Given the description of an element on the screen output the (x, y) to click on. 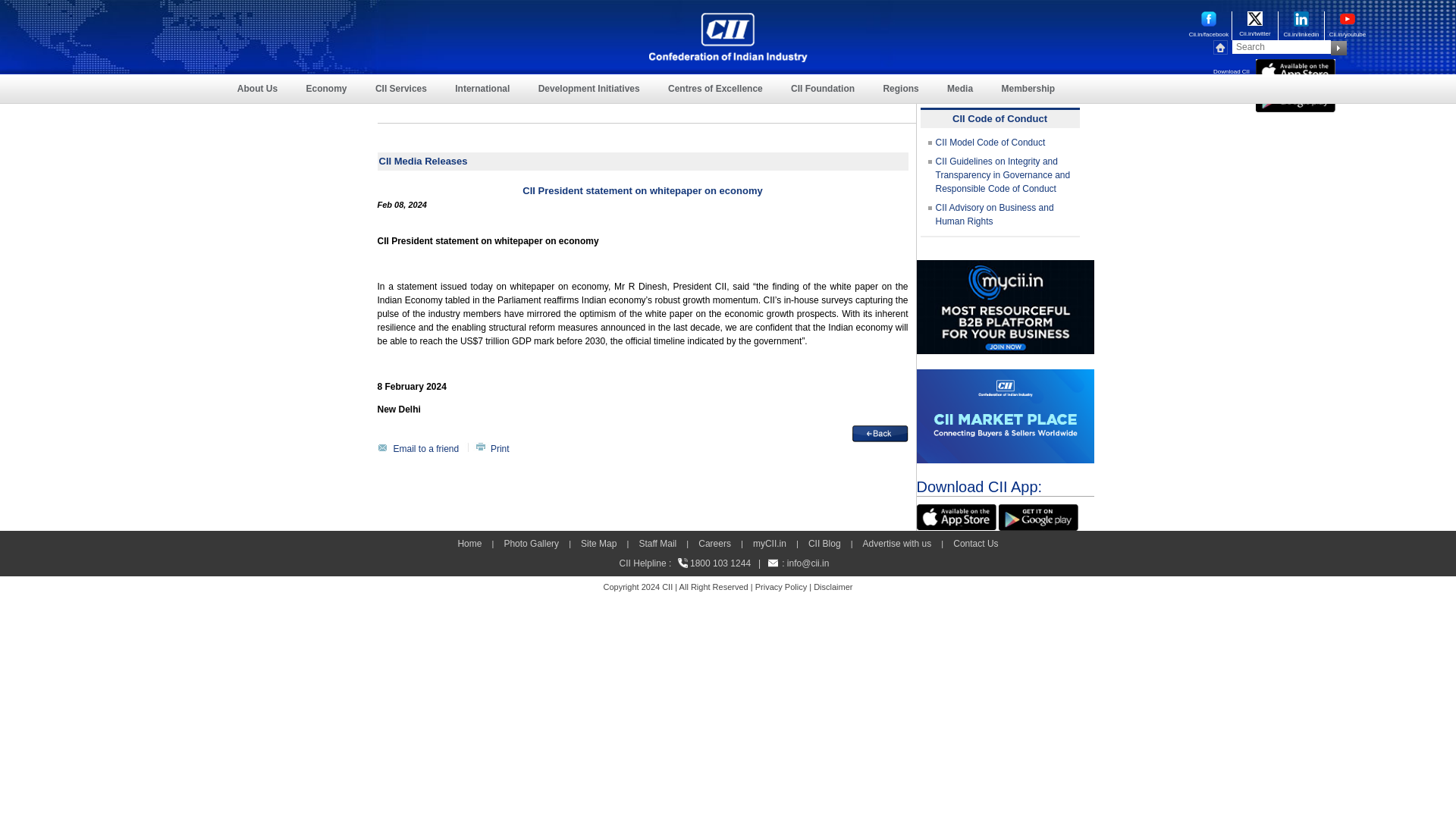
CII Market Place (1004, 416)
Google Play (1295, 98)
Google Play (1038, 516)
About Us (257, 88)
youtube (1347, 18)
Economy (326, 88)
Home (1221, 47)
linkedin (1301, 18)
mycii.in (1004, 306)
Home (728, 37)
App Store (955, 516)
twitter (1254, 18)
App Store (1295, 71)
